Given the description of an element on the screen output the (x, y) to click on. 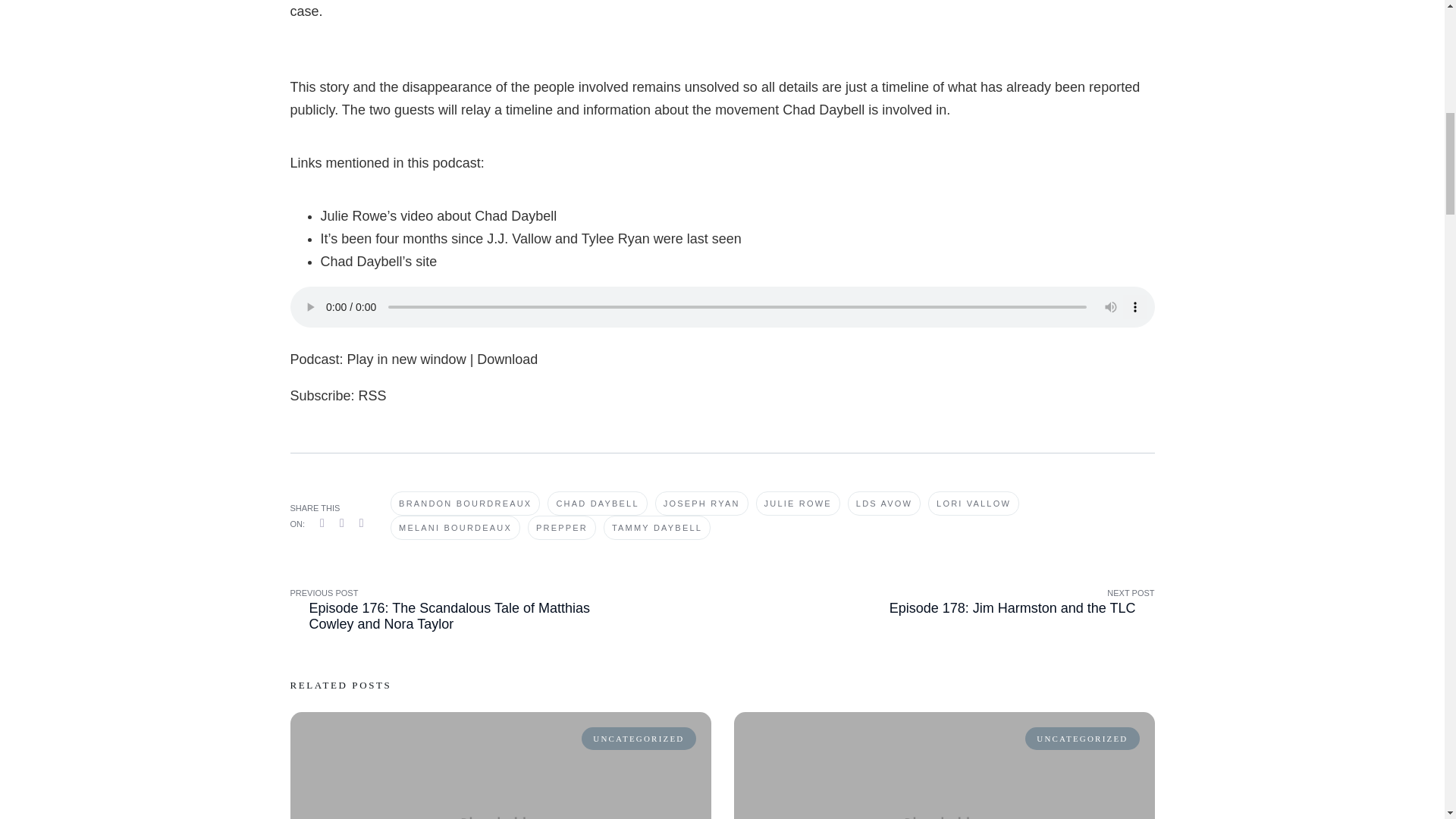
Play in new window (406, 359)
LORI VALLOW (973, 503)
LDS AVOW (883, 503)
Download (507, 359)
Subscribe via RSS (372, 395)
Play in new window (406, 359)
BRANDON BOURDREAUX (465, 503)
MELANI BOURDEAUX (454, 527)
Download (507, 359)
RSS (372, 395)
